Given the description of an element on the screen output the (x, y) to click on. 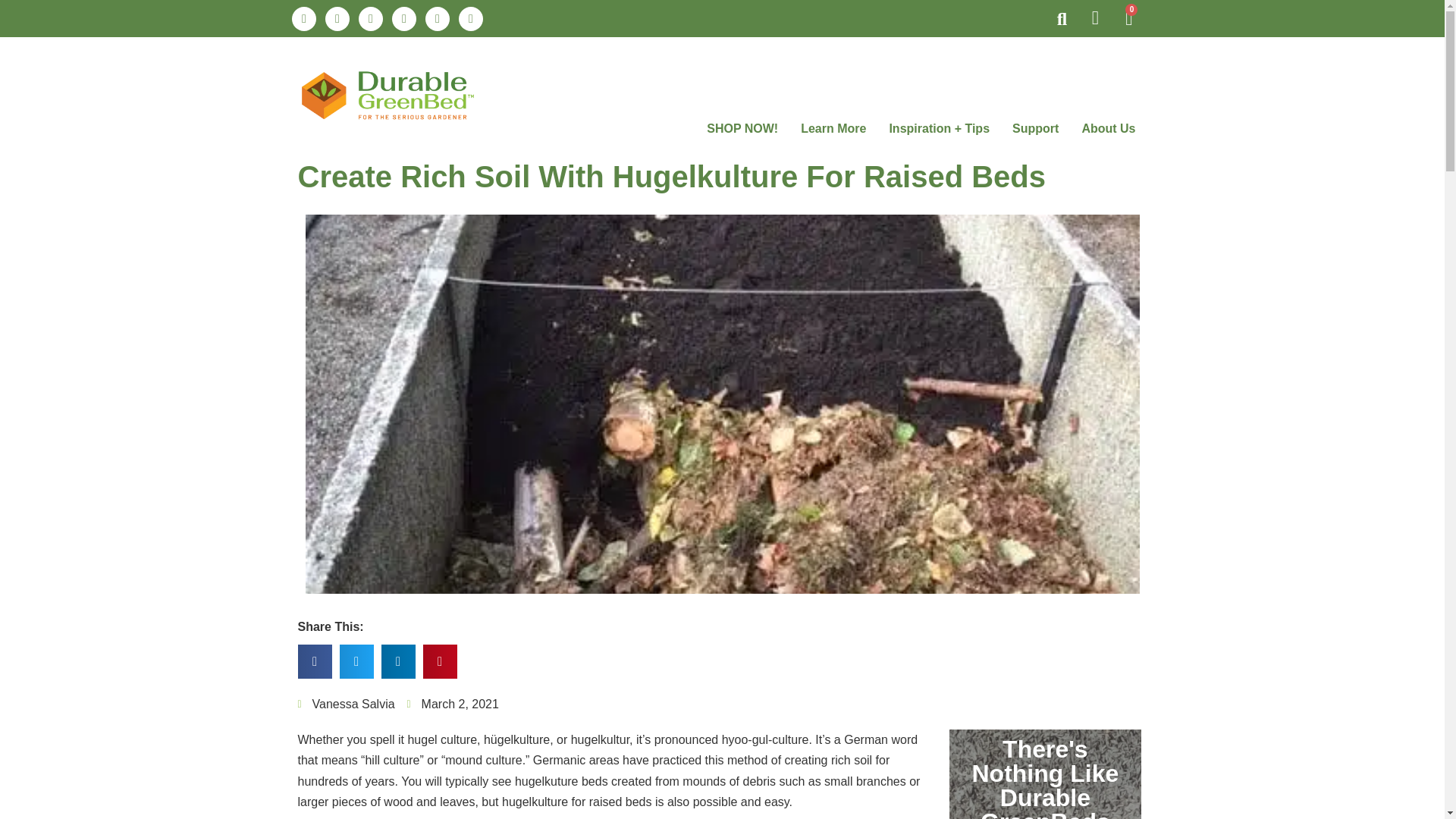
SHOP NOW! (742, 128)
Learn More (833, 128)
Skip to content (11, 31)
0 (1128, 18)
